Given the description of an element on the screen output the (x, y) to click on. 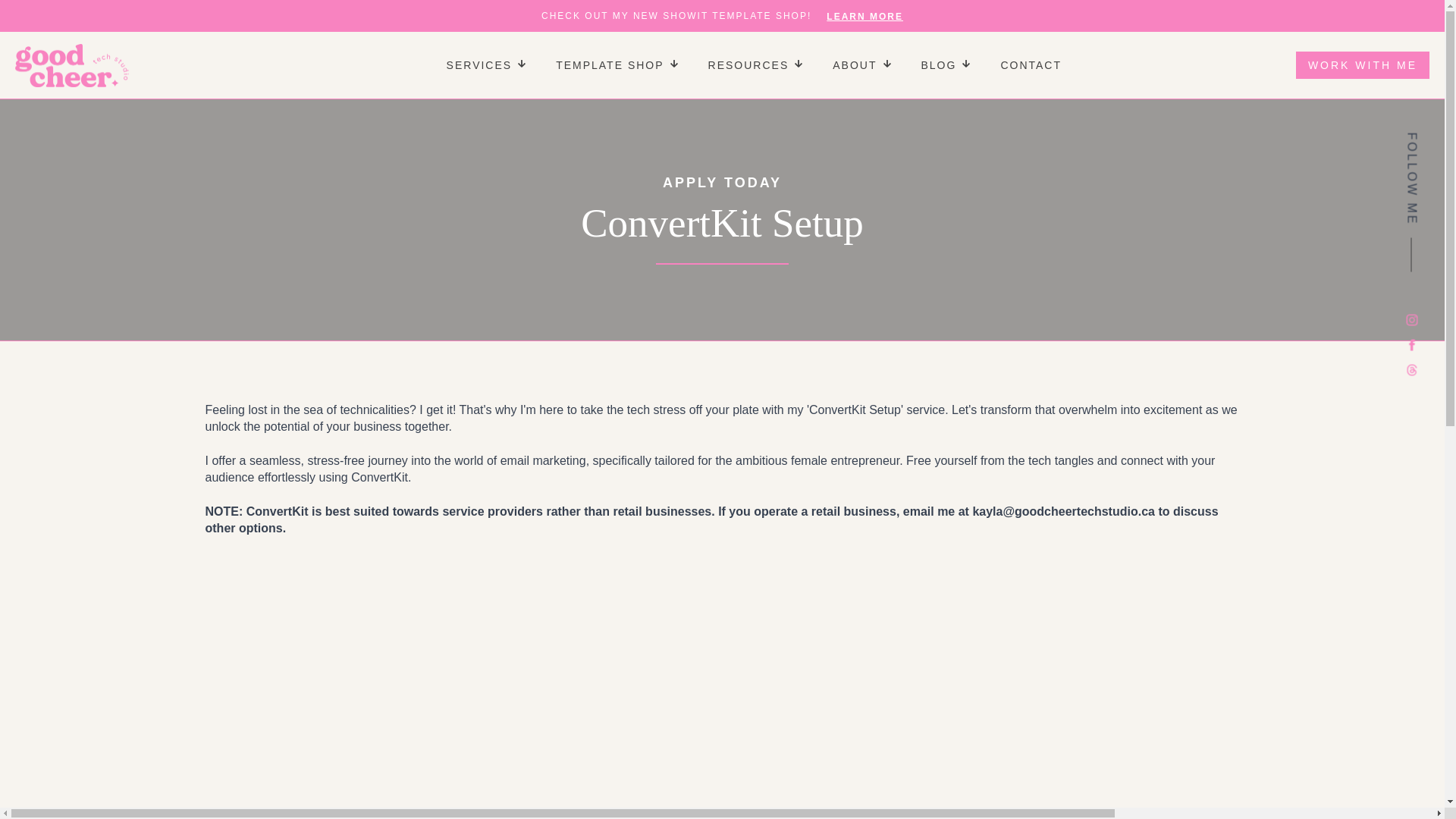
TEMPLATE SHOP (601, 64)
ABOUT (846, 64)
CHECK OUT MY NEW SHOWIT TEMPLATE SHOP! (675, 15)
LEARN MORE (864, 16)
SERVICES (471, 64)
RESOURCES (741, 64)
